Given the description of an element on the screen output the (x, y) to click on. 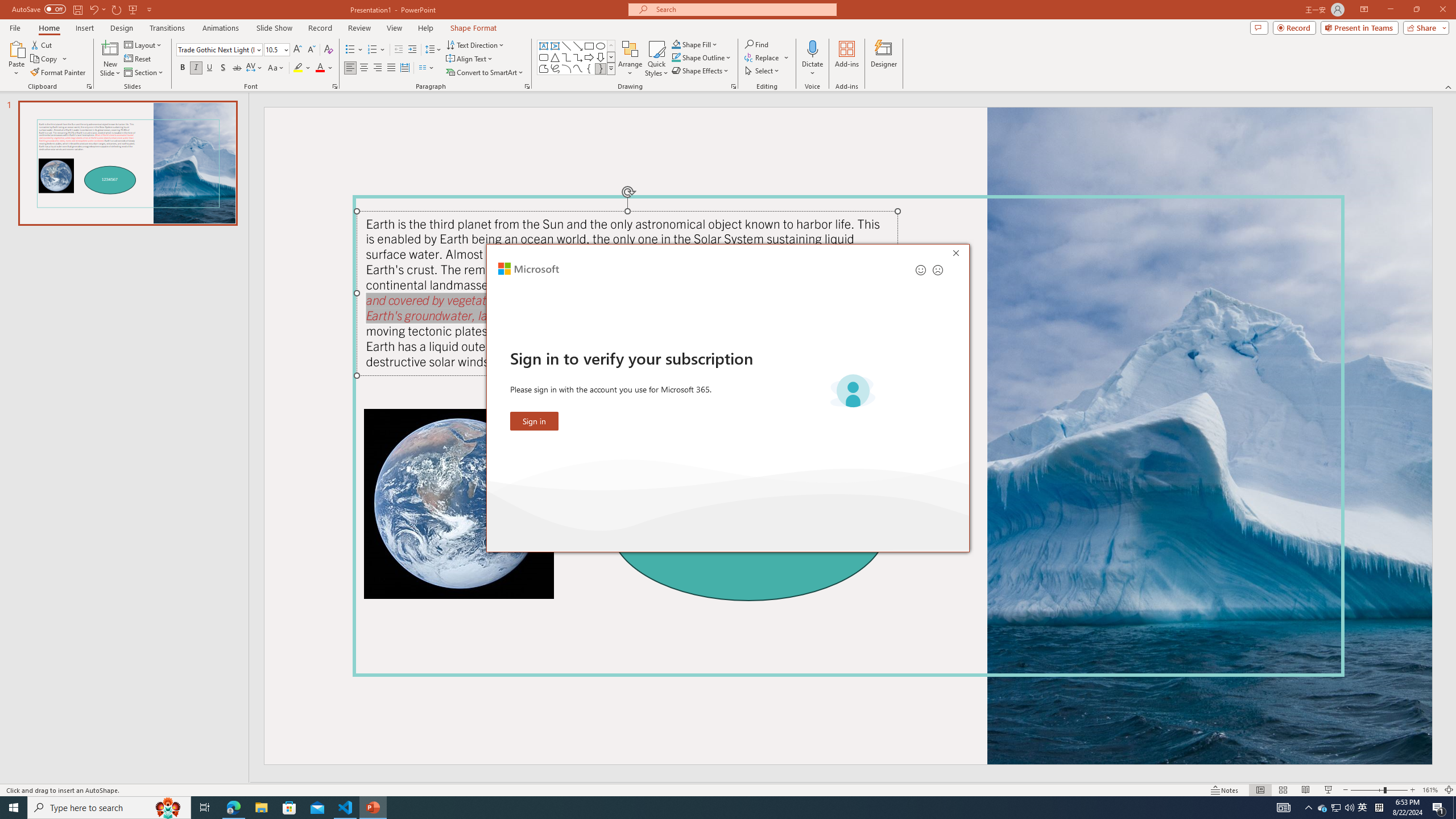
Send a frown for feedback (937, 269)
Sign in (534, 420)
